Given the description of an element on the screen output the (x, y) to click on. 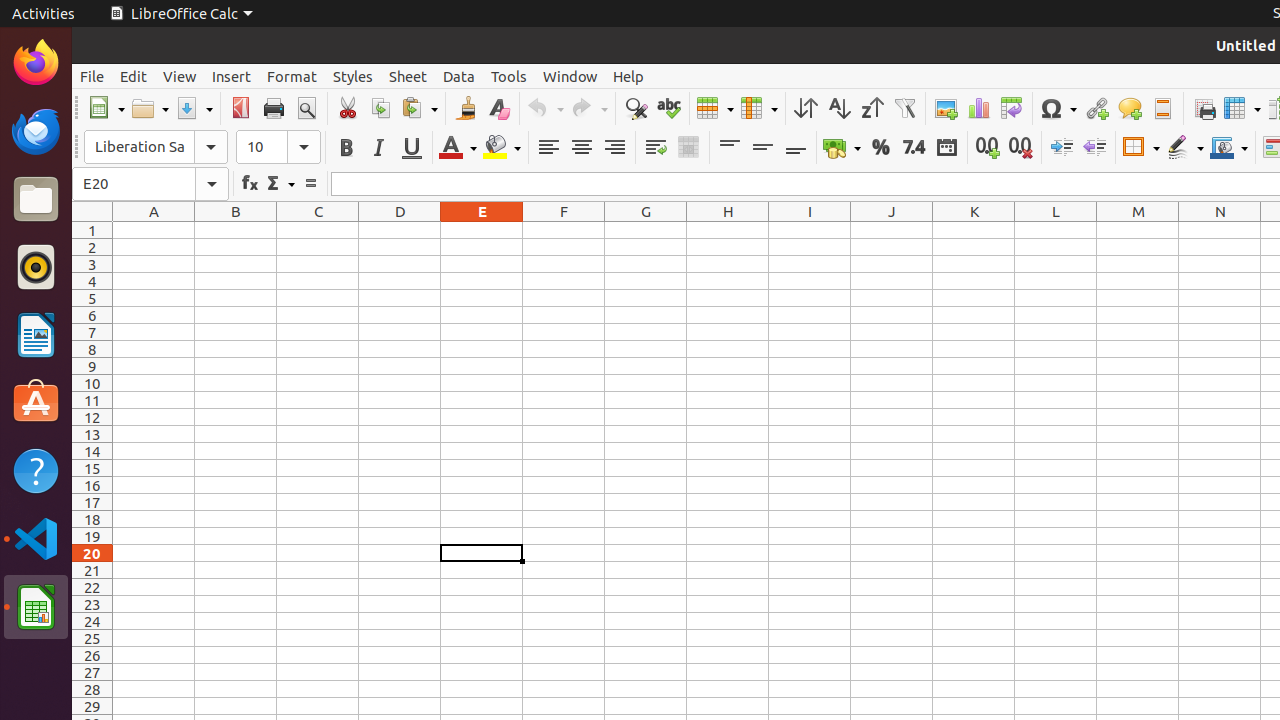
Border Color Element type: push-button (1229, 147)
Increase Element type: push-button (1061, 147)
Bold Element type: toggle-button (345, 147)
H1 Element type: table-cell (728, 230)
Rhythmbox Element type: push-button (36, 267)
